Given the description of an element on the screen output the (x, y) to click on. 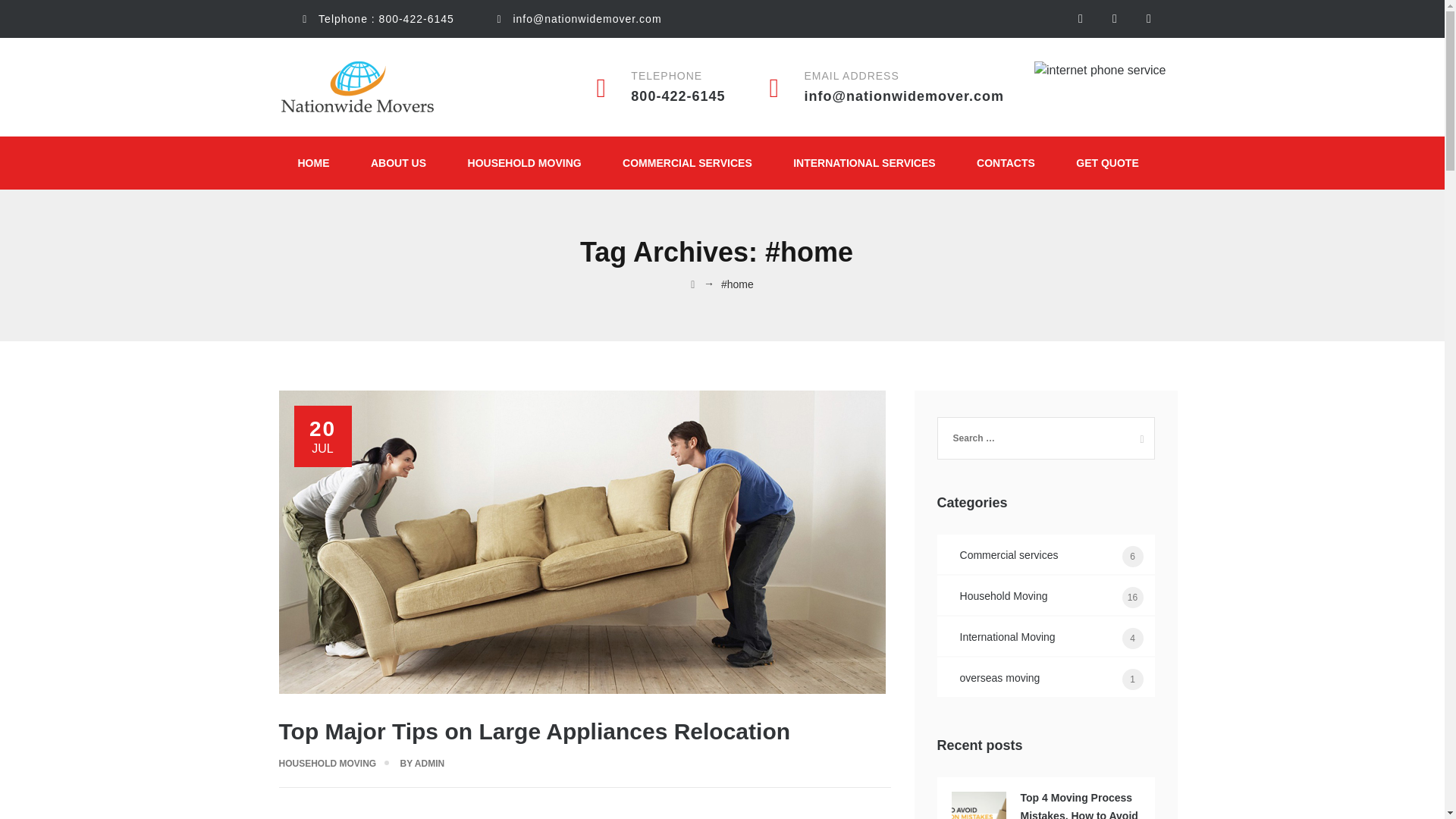
HOME (314, 162)
CONTACTS (1006, 162)
GET QUOTE (1107, 162)
COMMERCIAL SERVICES (687, 162)
Search (1136, 434)
800-422-6145 (677, 95)
Nation Wide Movers (357, 86)
Top Major Tips on Large Appliances Relocation (534, 731)
Search (1136, 434)
800-422-6145 (416, 19)
